Given the description of an element on the screen output the (x, y) to click on. 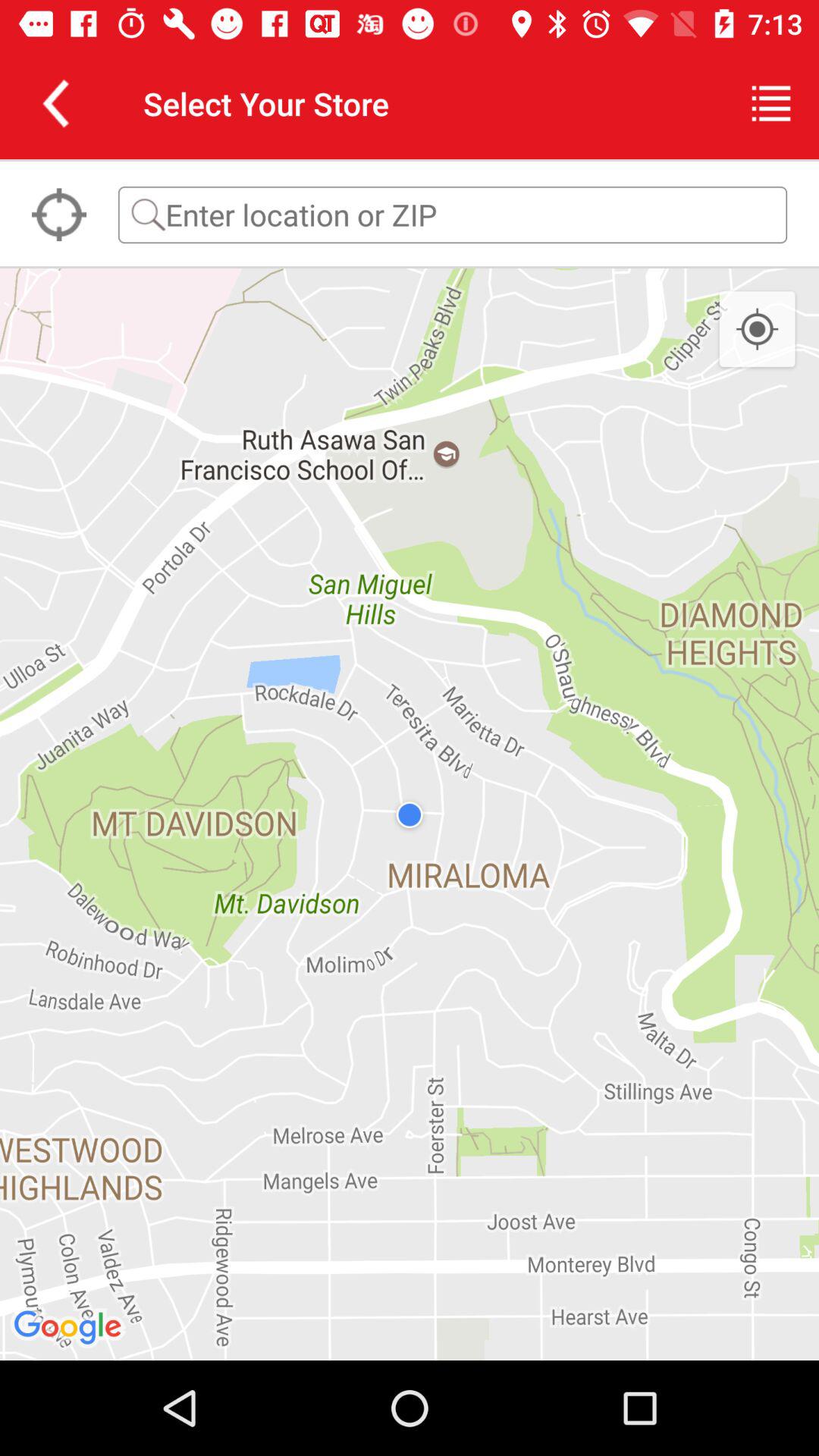
turn on item at the center (409, 814)
